Given the description of an element on the screen output the (x, y) to click on. 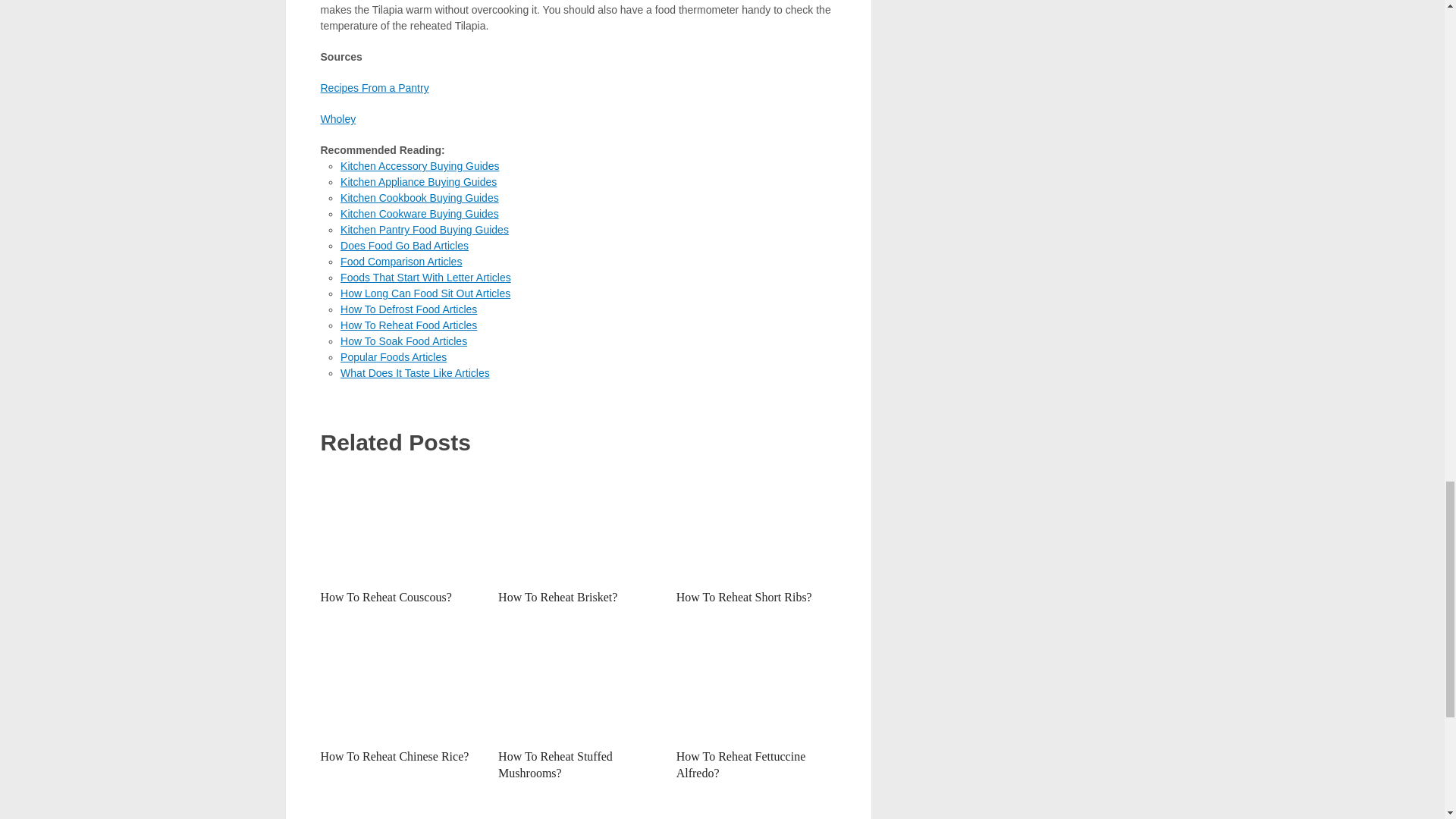
How To Reheat Couscous? (385, 596)
How To Reheat Couscous? (400, 524)
How To Reheat Brisket? (577, 524)
